Given the description of an element on the screen output the (x, y) to click on. 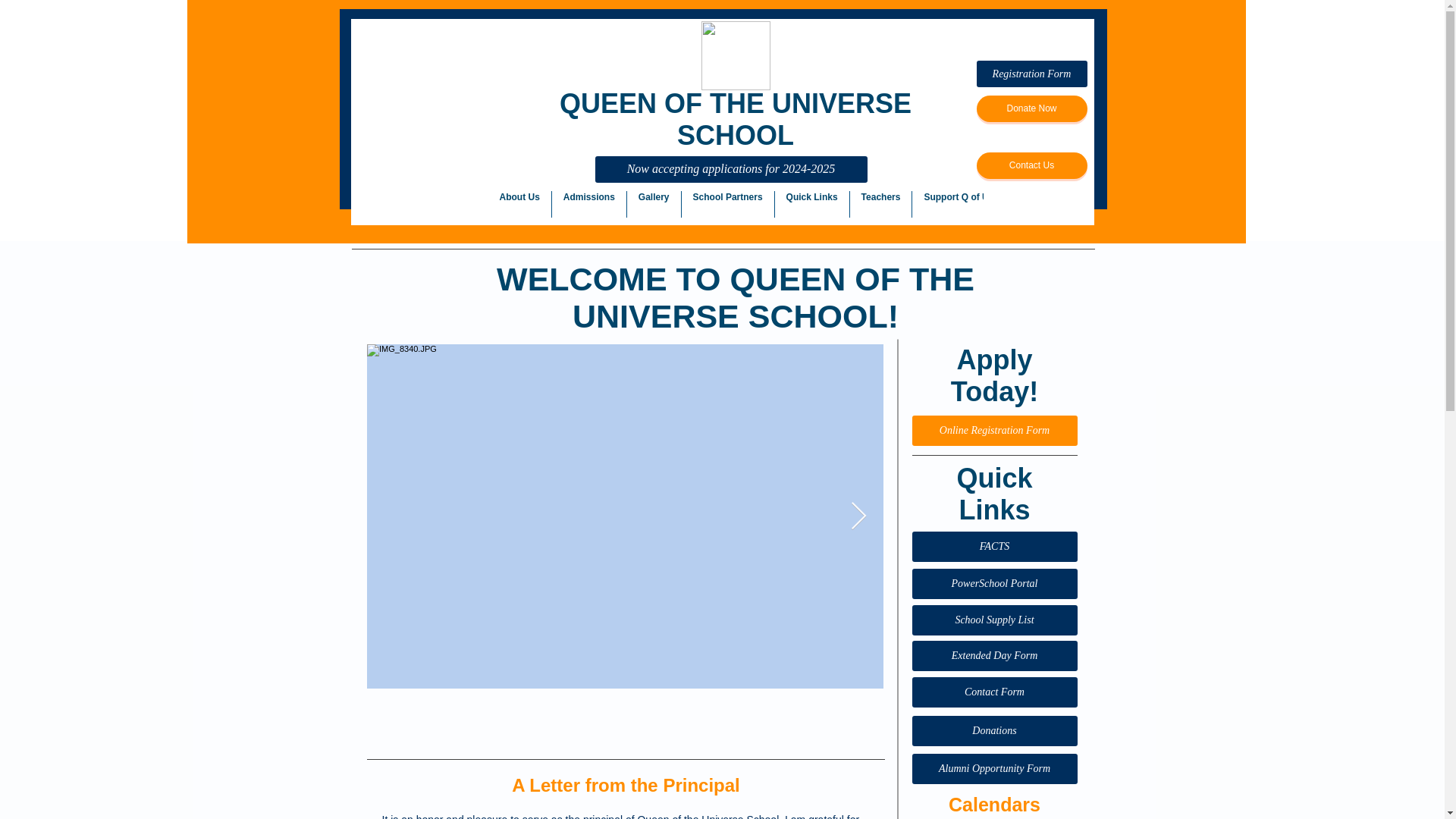
Now accepting applications for 2024-2025 (730, 169)
Gallery (654, 203)
Teachers (881, 203)
School Partners (727, 203)
Registration Form (1031, 73)
Contact Us (1031, 165)
Quick Links (811, 203)
queenslogo150x150.jpg (735, 55)
Donate Now (1031, 108)
